Given the description of an element on the screen output the (x, y) to click on. 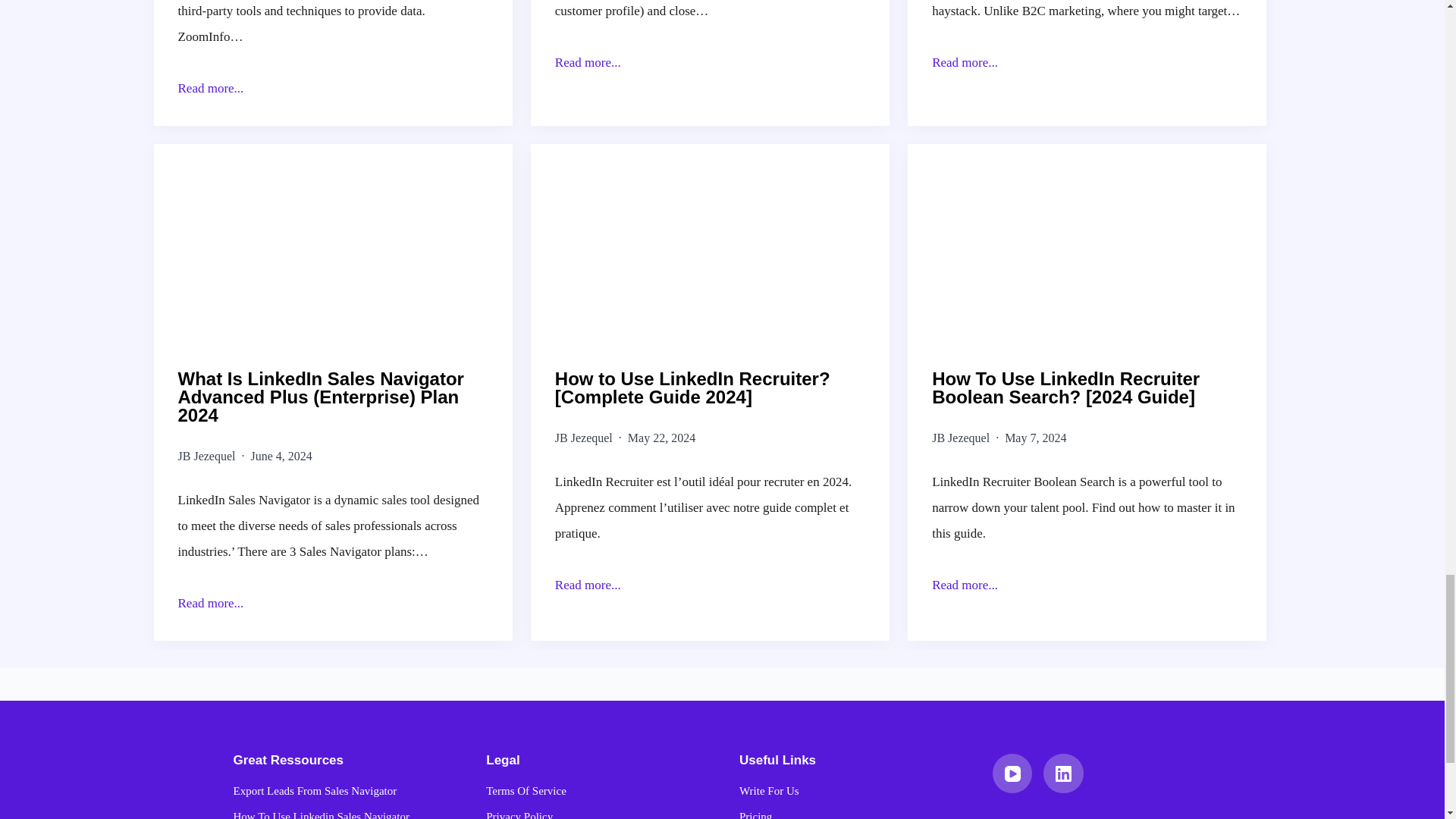
Visit Youtube Channel (107, 384)
